Given the description of an element on the screen output the (x, y) to click on. 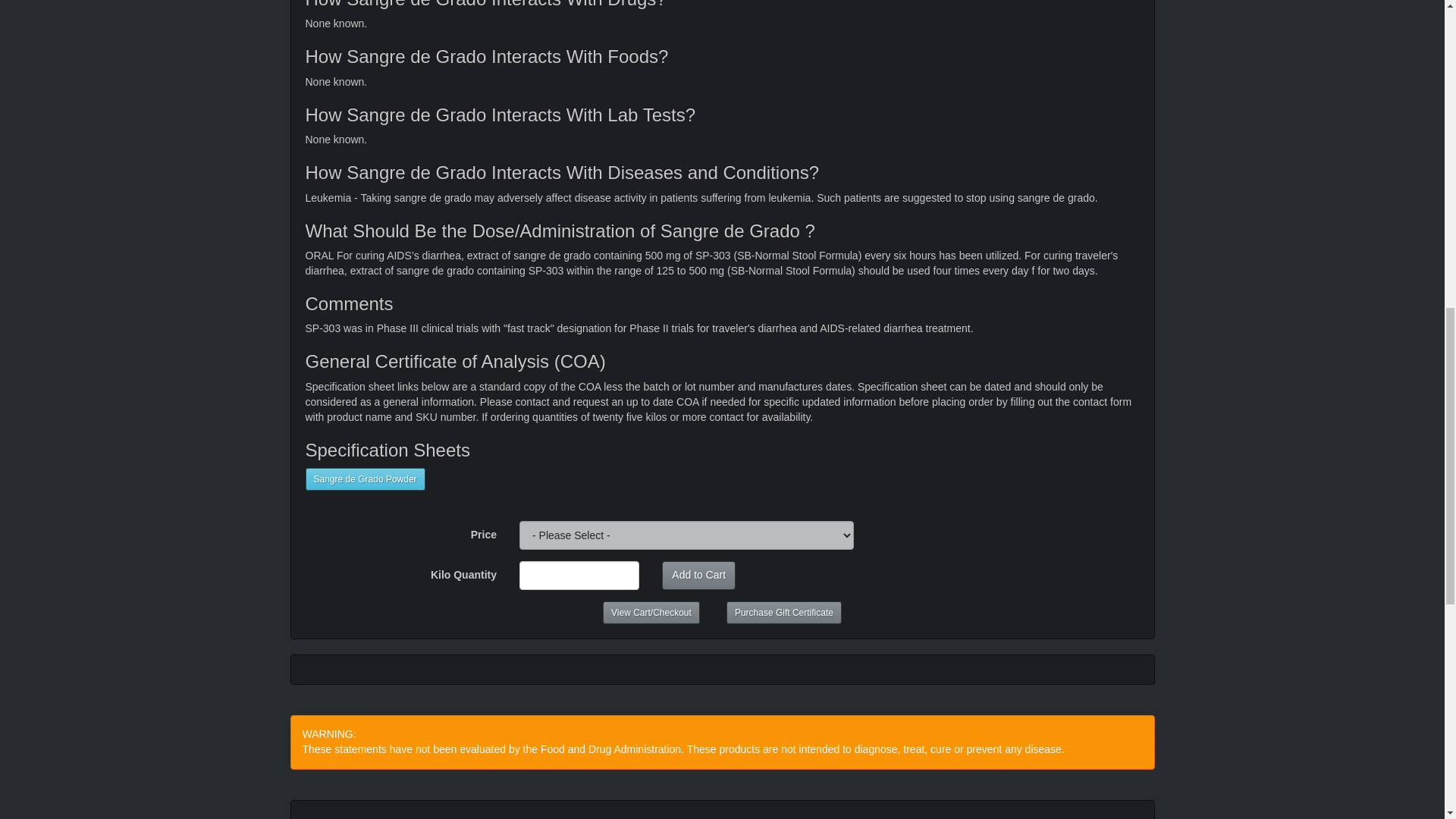
Add to Cart (698, 575)
Sangre de Grado Powder (364, 478)
Purchase Gift Certificate (783, 612)
Add to Cart (698, 575)
